Given the description of an element on the screen output the (x, y) to click on. 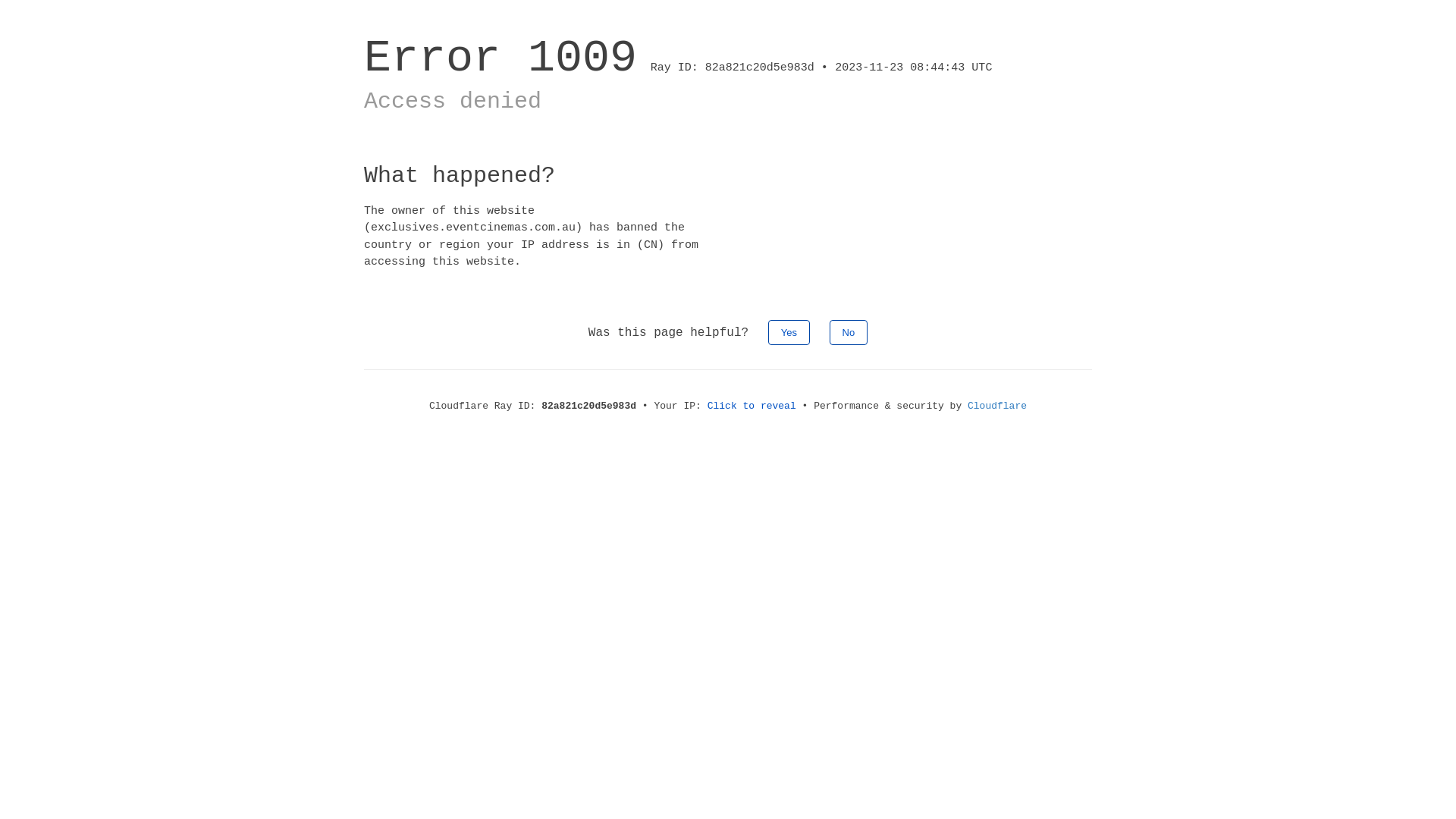
No Element type: text (848, 332)
Cloudflare Element type: text (996, 405)
Yes Element type: text (788, 332)
Click to reveal Element type: text (751, 405)
